Given the description of an element on the screen output the (x, y) to click on. 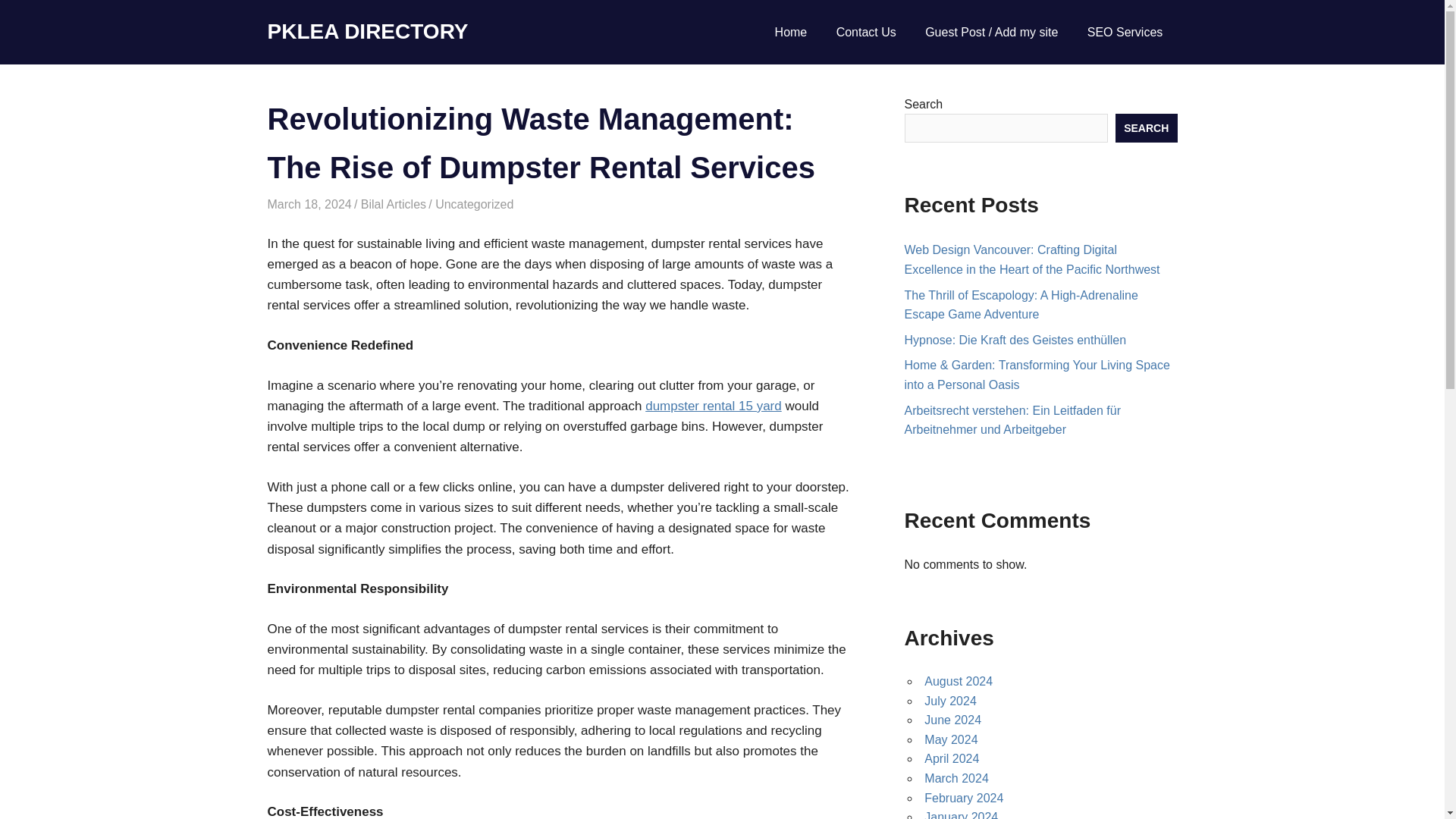
June 2024 (952, 719)
March 2024 (956, 778)
January 2024 (960, 814)
SEO Services (1125, 32)
April 2024 (951, 758)
February 2024 (963, 797)
March 18, 2024 (308, 204)
SEARCH (1146, 127)
August 2024 (958, 680)
